Given the description of an element on the screen output the (x, y) to click on. 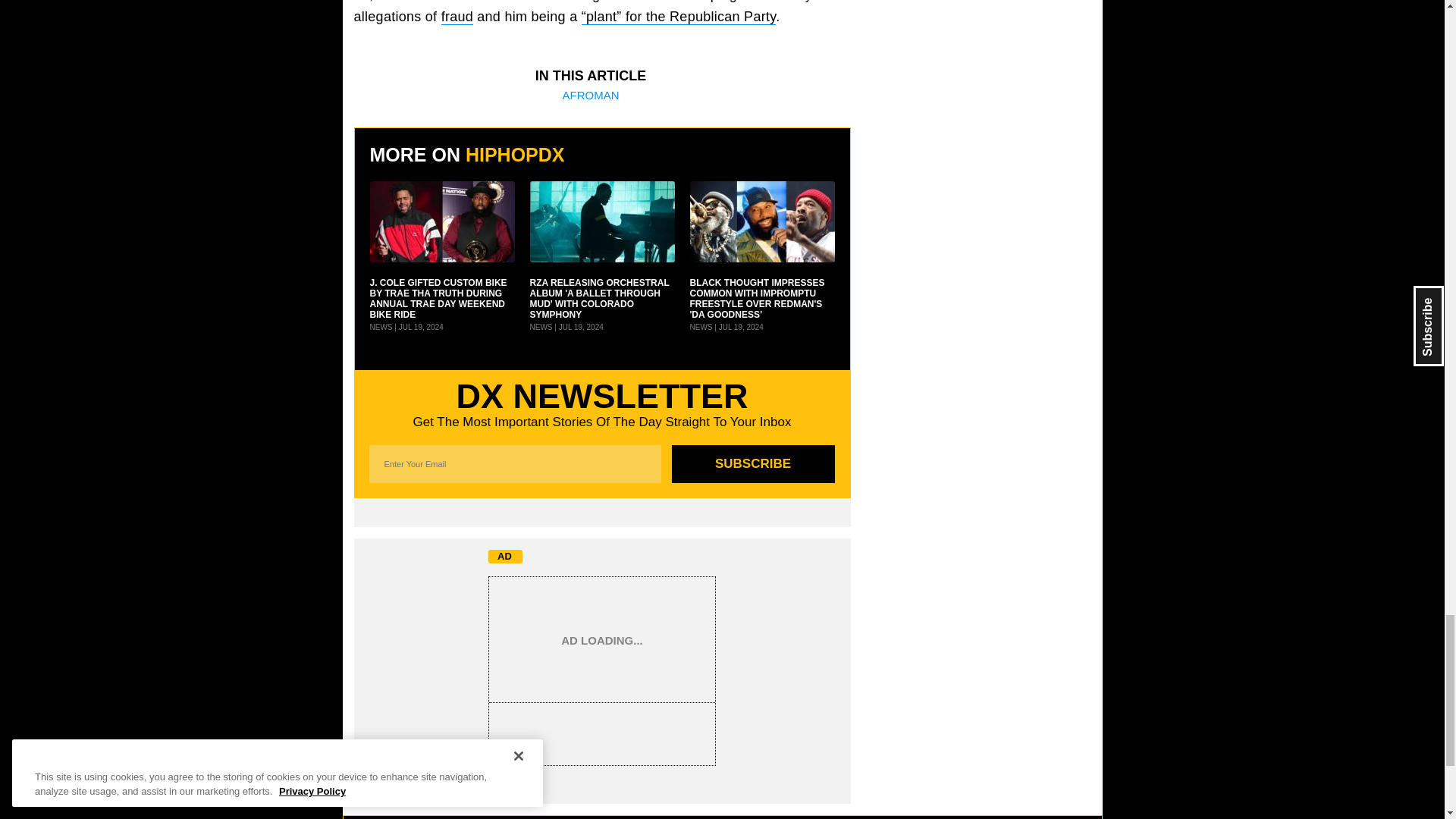
fraud (457, 17)
